Given the description of an element on the screen output the (x, y) to click on. 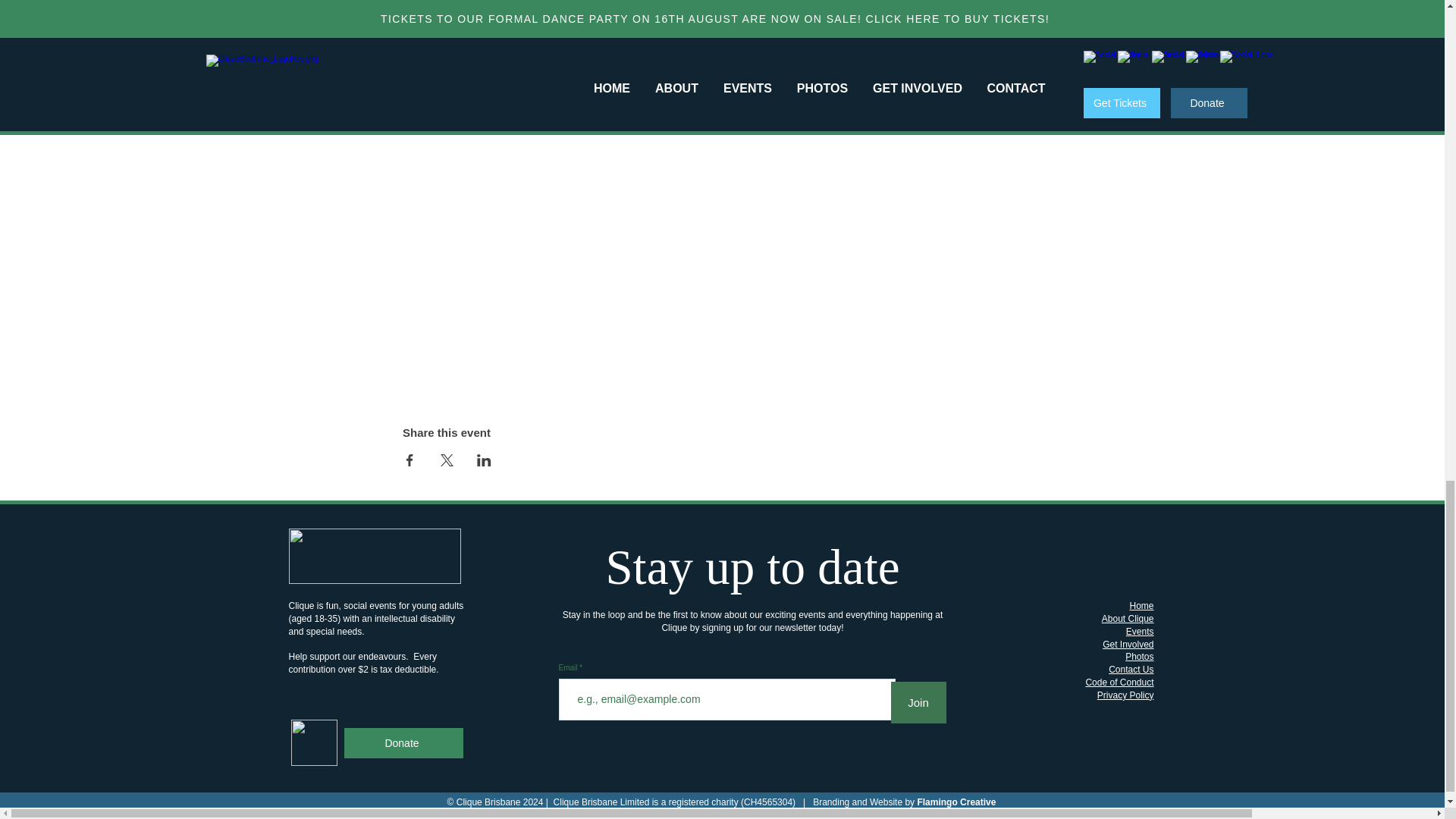
Flamingo Creative (956, 801)
Photos (1139, 656)
Code of Conduct (1118, 682)
About Clique (1128, 618)
Checkout (914, 63)
Events (1139, 631)
Join (916, 702)
Get Involved (1127, 644)
Donate (403, 743)
Home (1141, 605)
Contact Us (1130, 669)
Privacy Policy (1125, 695)
